Given the description of an element on the screen output the (x, y) to click on. 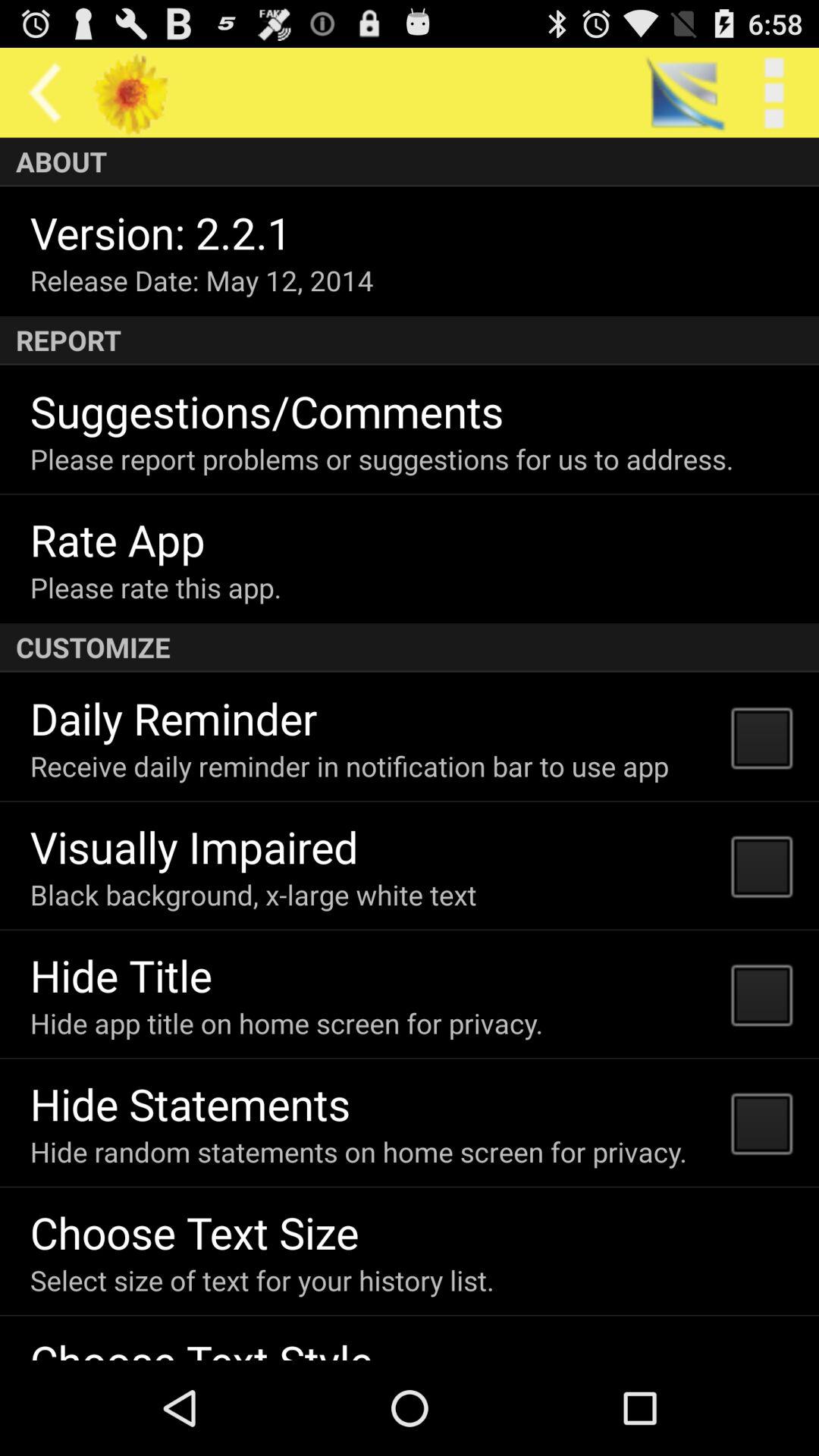
turn on visually impaired (194, 846)
